Given the description of an element on the screen output the (x, y) to click on. 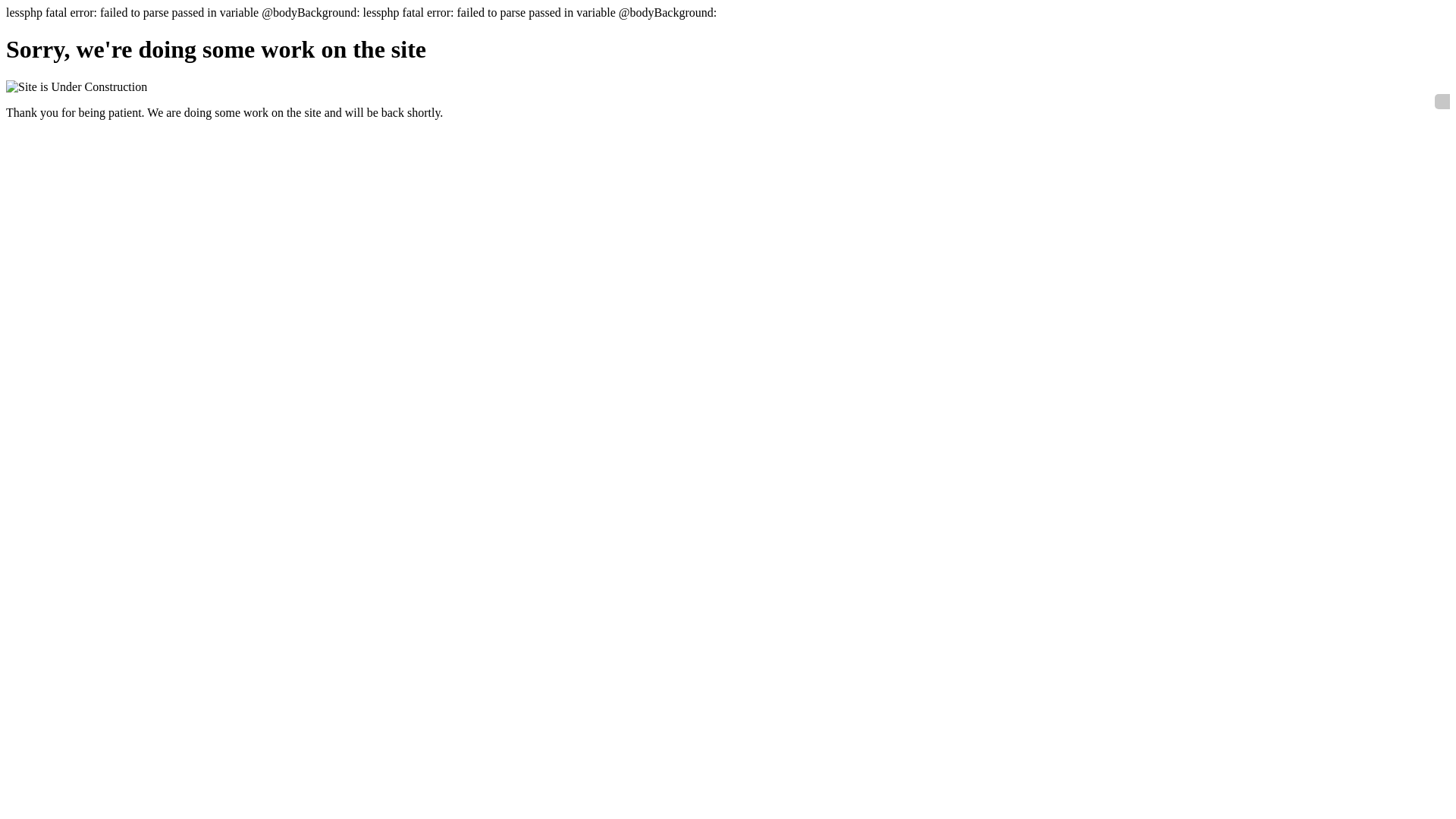
Site is Under Construction Element type: hover (76, 87)
